Given the description of an element on the screen output the (x, y) to click on. 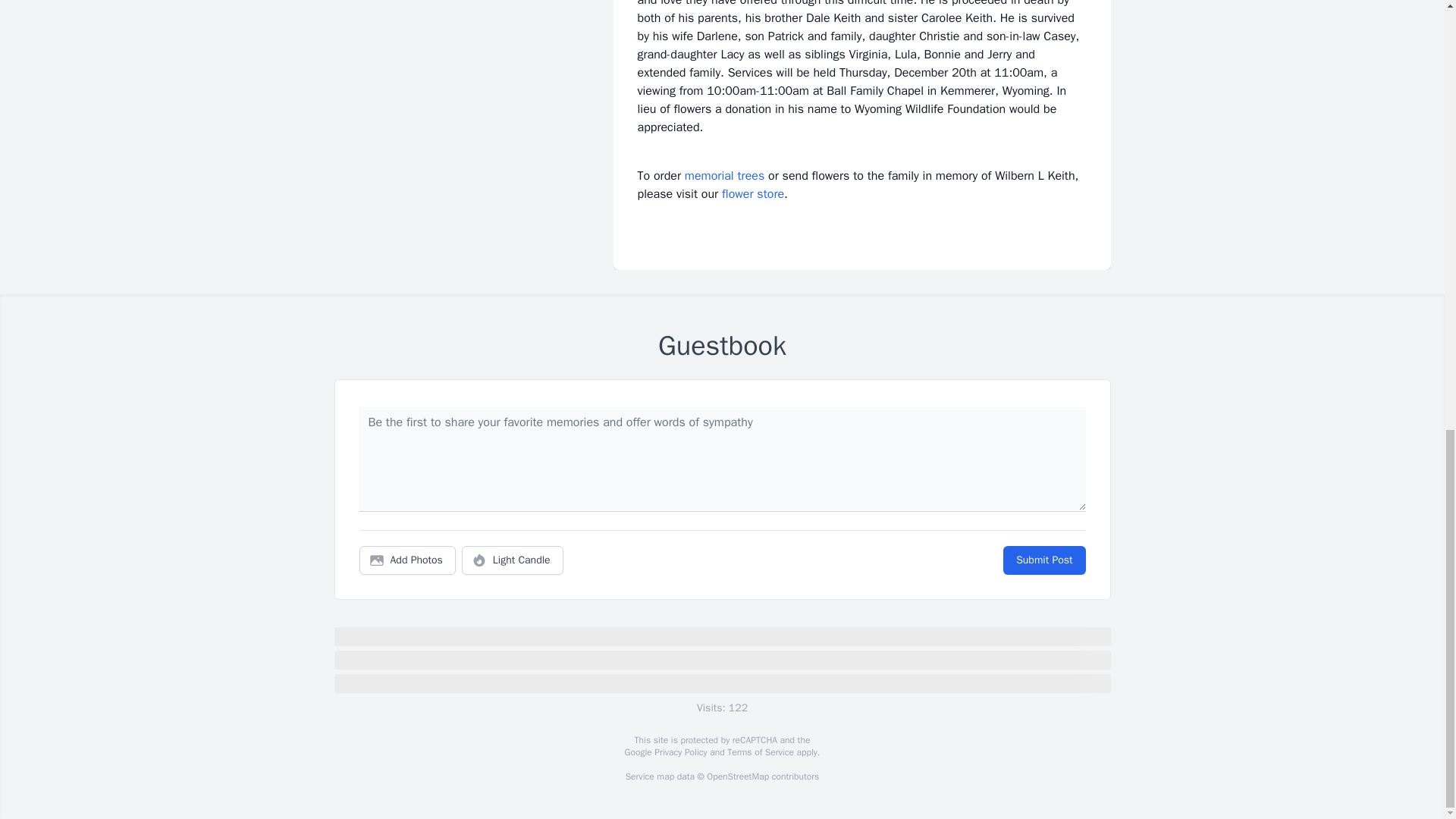
Submit Post (1043, 560)
Add Photos (407, 560)
OpenStreetMap (737, 776)
Light Candle (512, 560)
Privacy Policy (679, 752)
memorial trees (724, 175)
Terms of Service (759, 752)
flower store (753, 193)
